Given the description of an element on the screen output the (x, y) to click on. 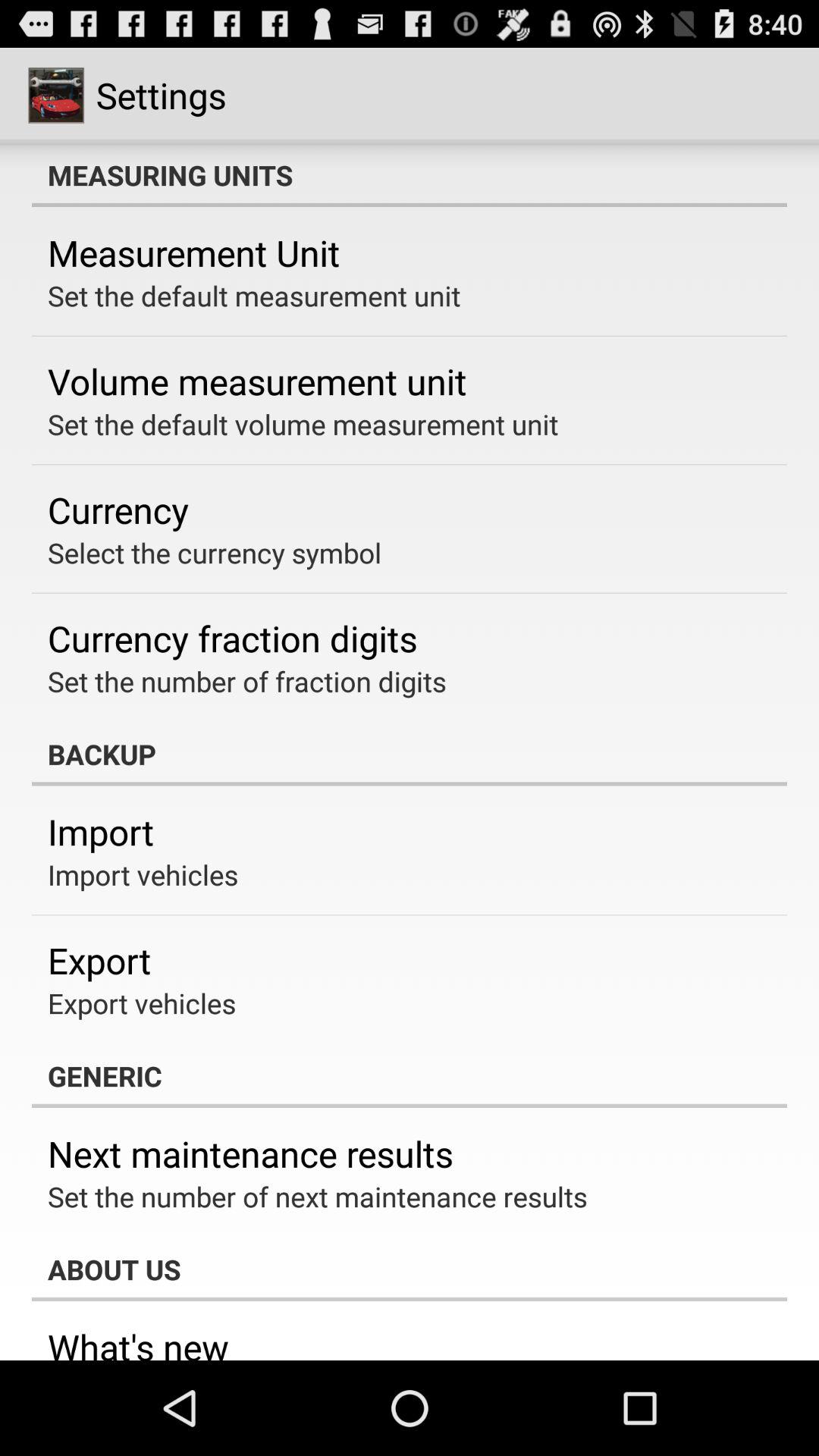
turn on item below export app (141, 1003)
